Given the description of an element on the screen output the (x, y) to click on. 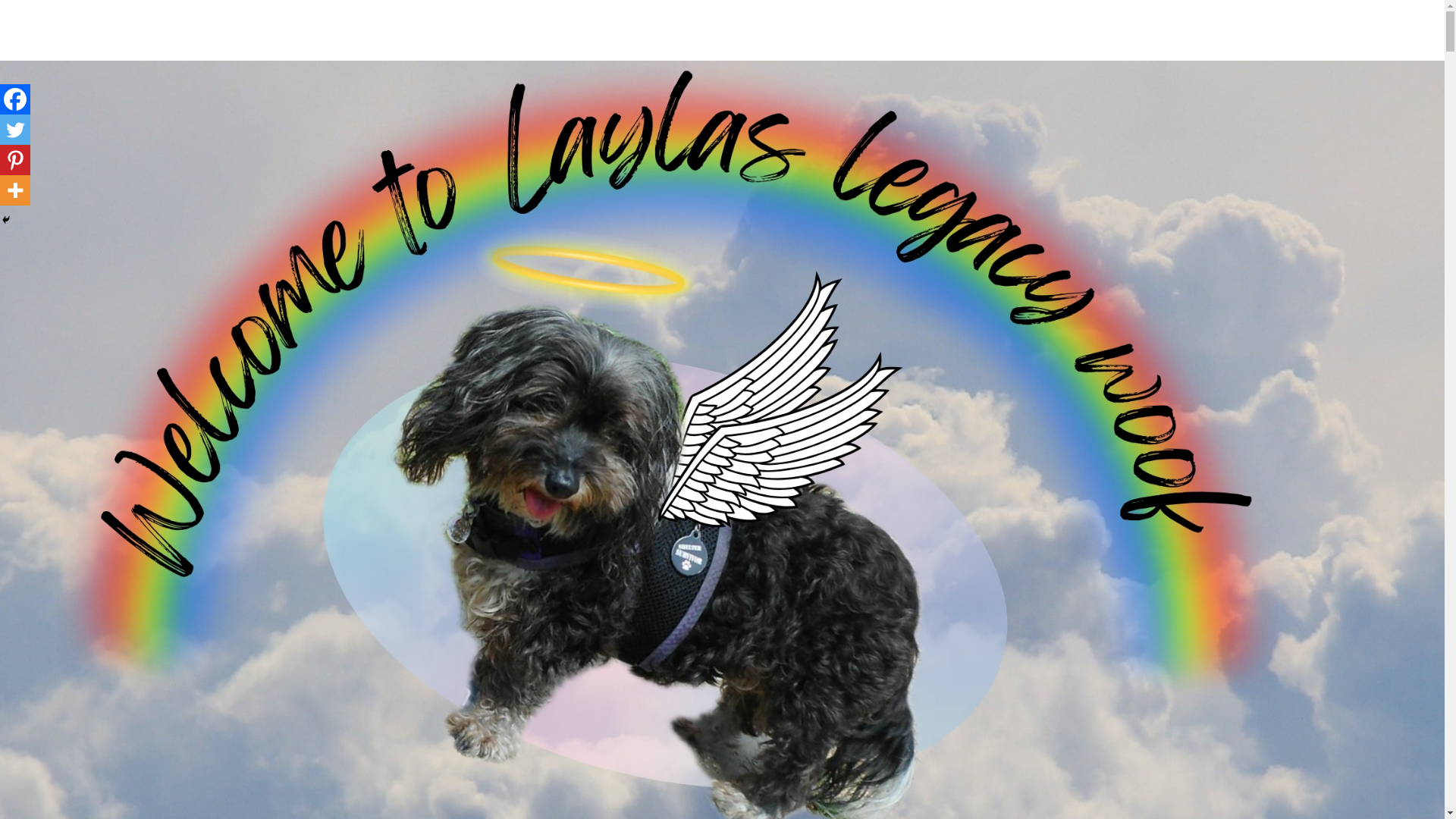
More (15, 190)
Layla's Woof (377, 48)
Pinterest (15, 159)
Facebook (15, 99)
Layla's Woof (377, 48)
Twitter (15, 129)
Hide (5, 219)
